Given the description of an element on the screen output the (x, y) to click on. 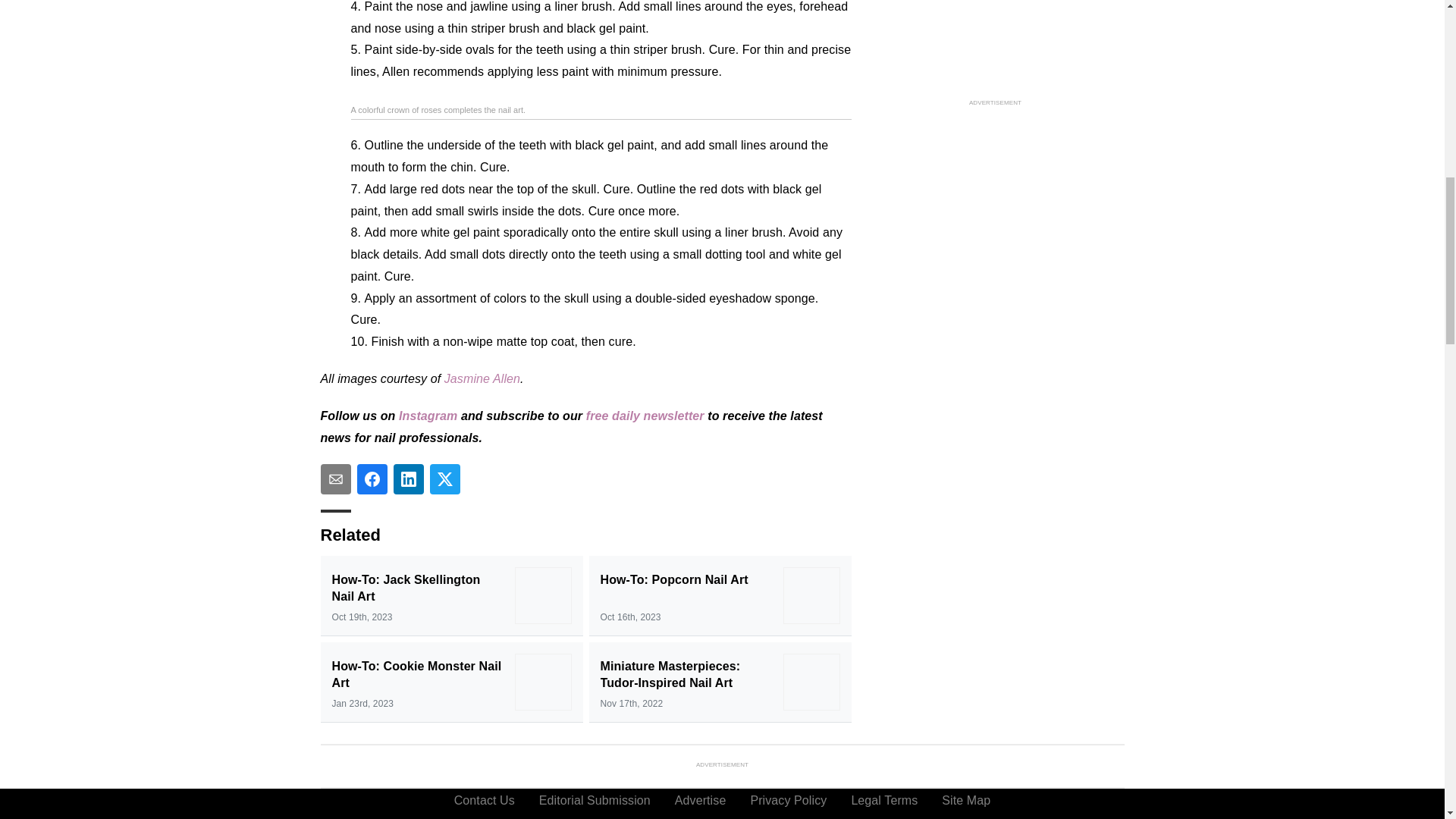
Share To facebook (371, 479)
Share To twitter (444, 479)
Share To email (335, 479)
Share To linkedin (408, 479)
